Given the description of an element on the screen output the (x, y) to click on. 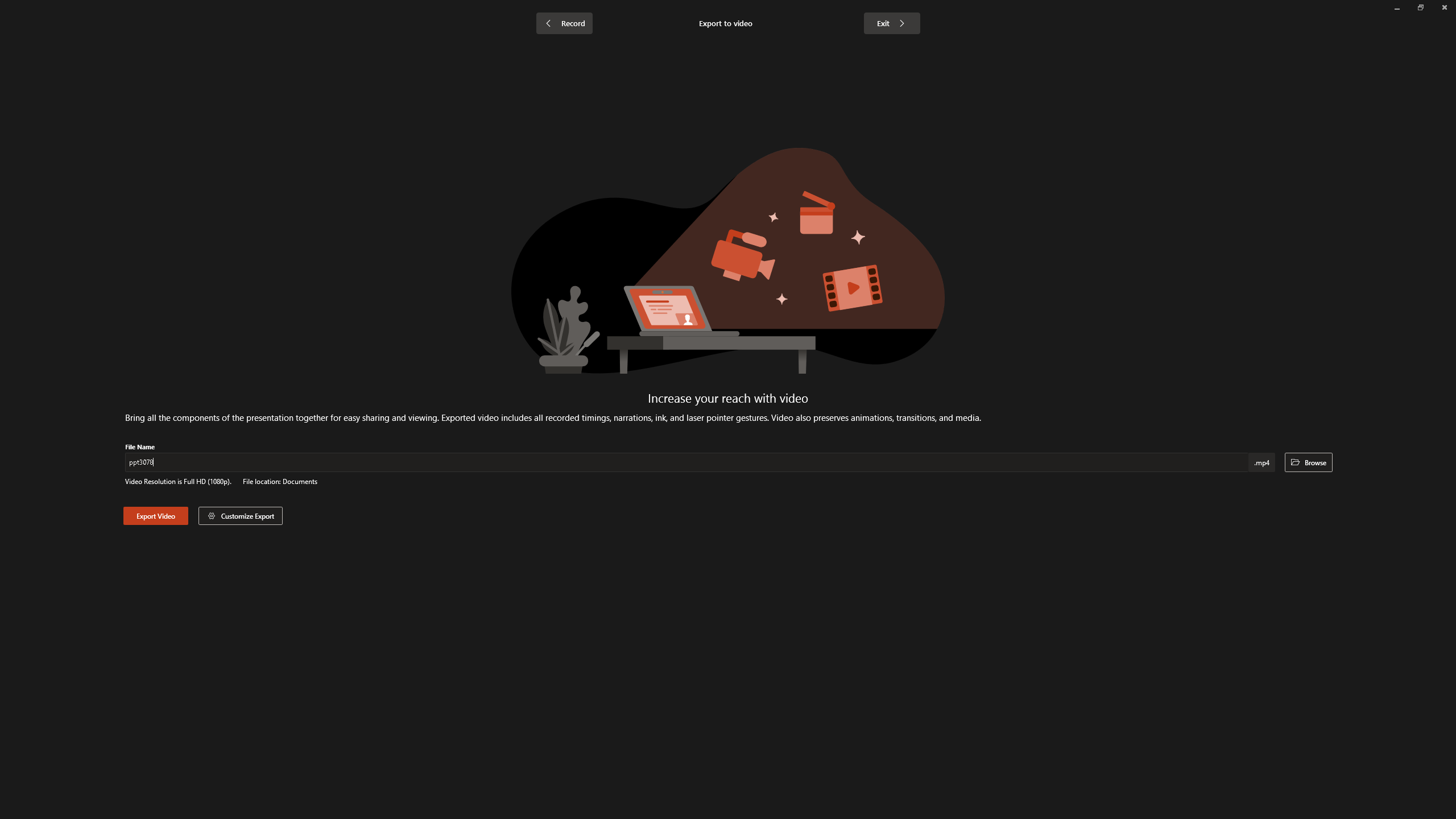
Preview (17, 58)
Save as Show (306, 58)
Screen Recording (165, 58)
Reset to Cameo (269, 58)
